Given the description of an element on the screen output the (x, y) to click on. 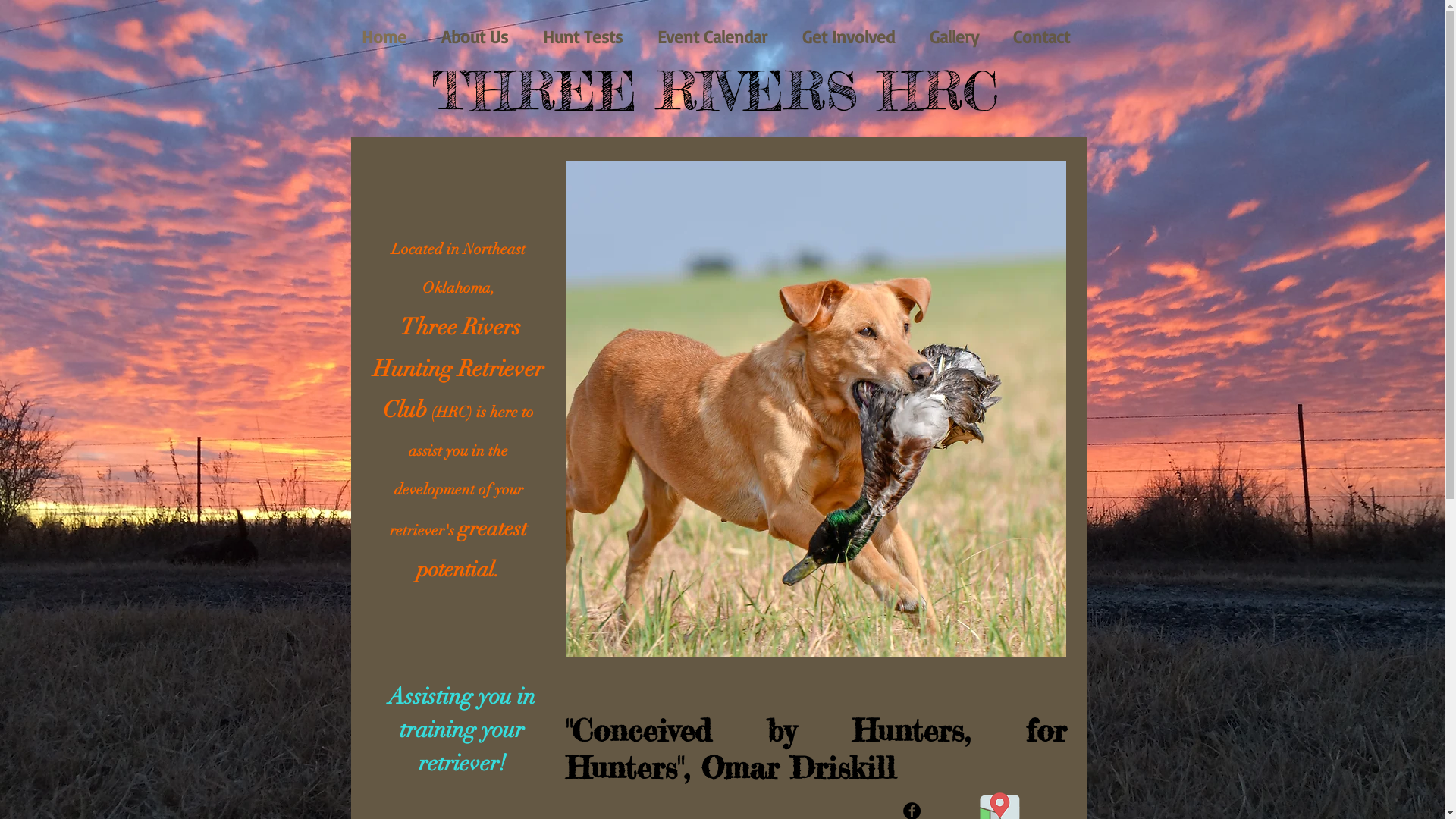
Contact Element type: text (1041, 36)
Get Involved Element type: text (847, 36)
Gallery Element type: text (953, 36)
Hunt Tests Element type: text (581, 36)
About Us Element type: text (473, 36)
Event Calendar Element type: text (712, 36)
Home Element type: text (383, 36)
